Given the description of an element on the screen output the (x, y) to click on. 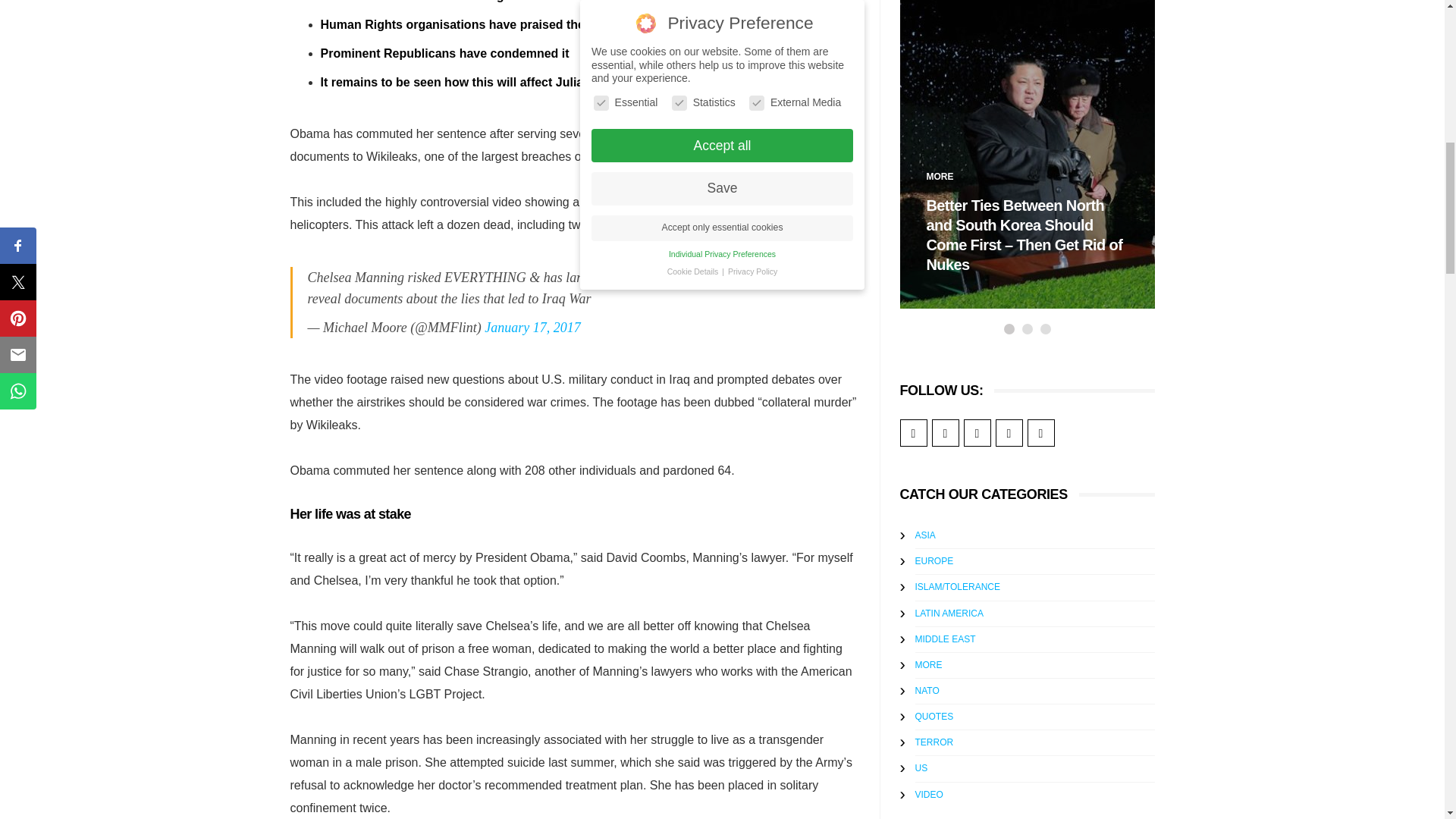
News From Europe (933, 561)
January 17, 2017 (531, 327)
